Given the description of an element on the screen output the (x, y) to click on. 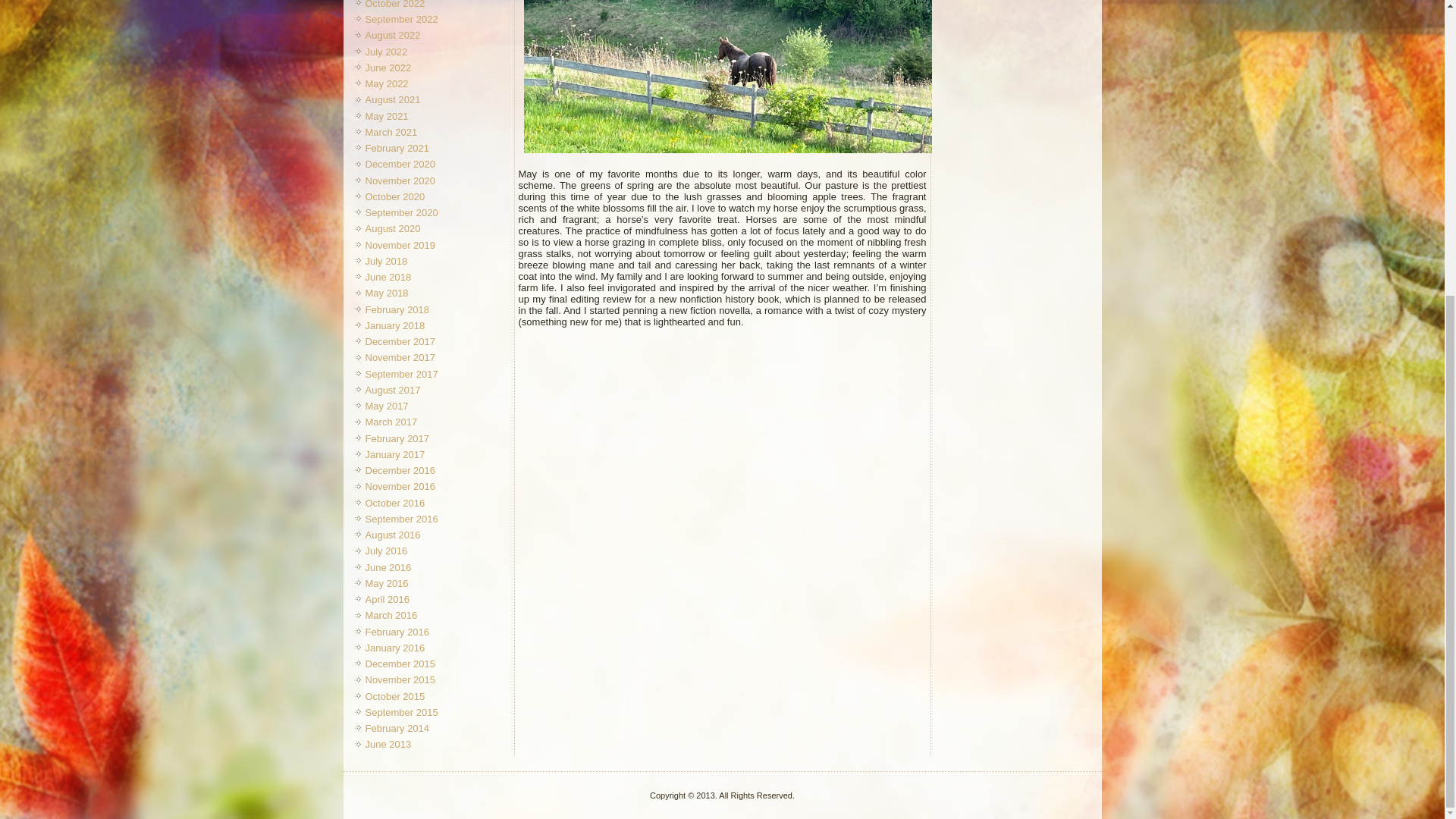
May 2021 (387, 116)
August 2021 (392, 99)
February 2021 (397, 147)
July 2018 (386, 260)
June 2018 (388, 276)
November 2019 (400, 244)
May 2018 (387, 292)
October 2022 (395, 4)
August 2022 (392, 34)
August 2020 (392, 228)
December 2020 (400, 163)
September 2022 (401, 19)
June 2022 (388, 67)
July 2022 (386, 51)
February 2018 (397, 309)
